Given the description of an element on the screen output the (x, y) to click on. 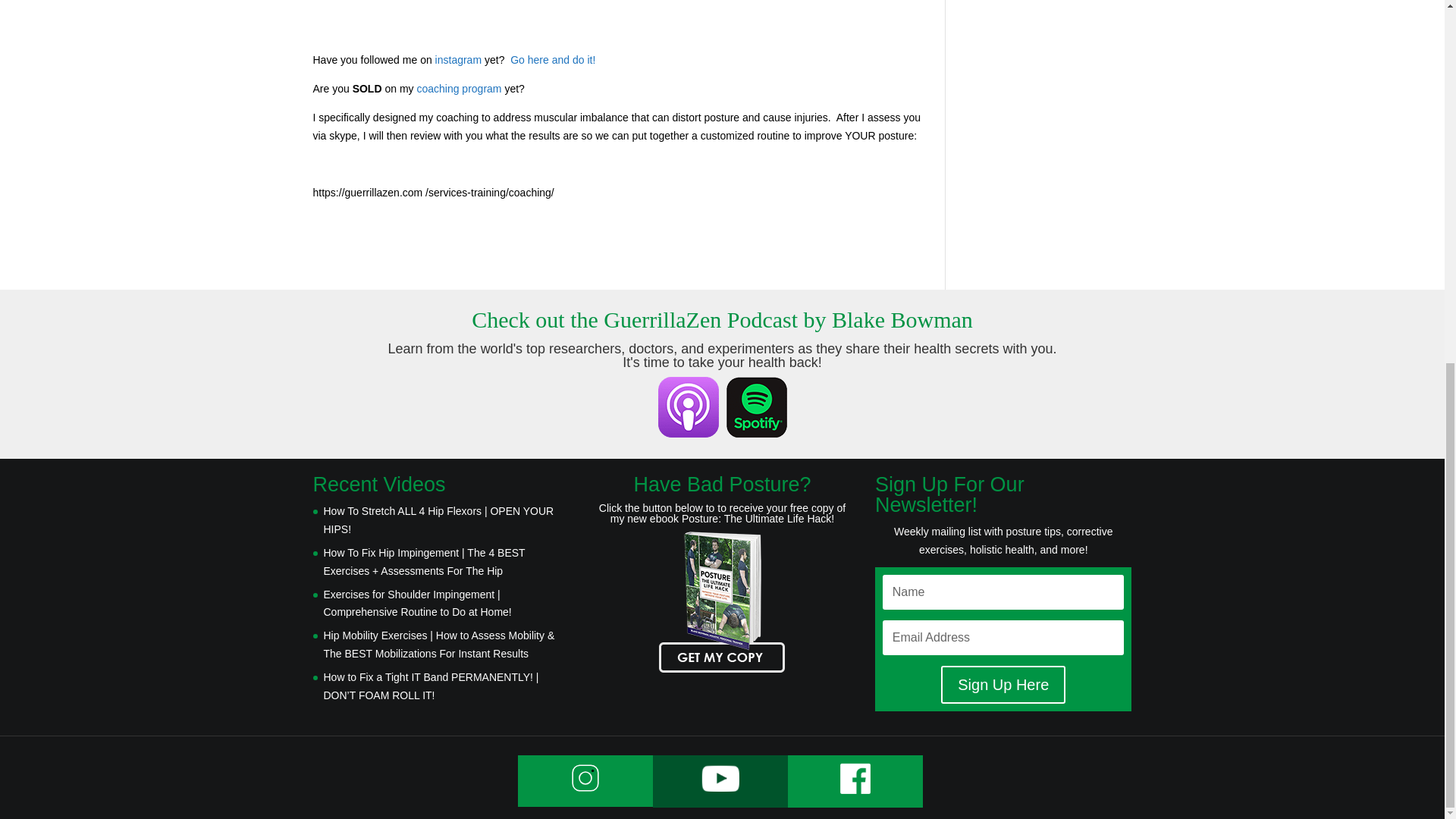
Name (1003, 591)
Email Address (1003, 637)
